Given the description of an element on the screen output the (x, y) to click on. 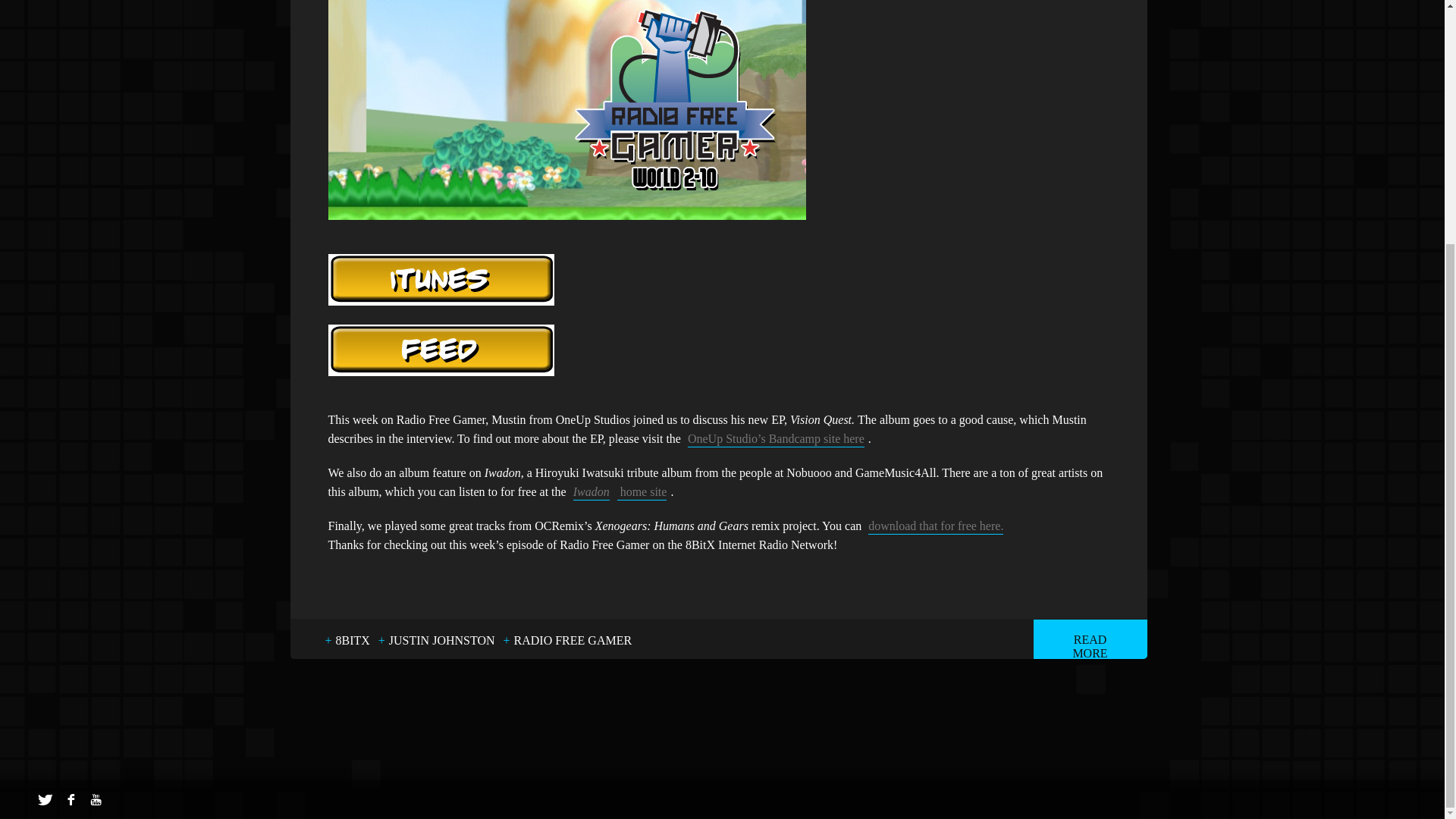
feed-button (440, 349)
itunes-button (440, 279)
Iwadon (591, 492)
8BITX (352, 640)
home site (641, 492)
RADIO FREE GAMER (573, 640)
world210 (566, 110)
READ MORE (1089, 639)
JUSTIN JOHNSTON (441, 640)
download that for free here. (935, 525)
